Given the description of an element on the screen output the (x, y) to click on. 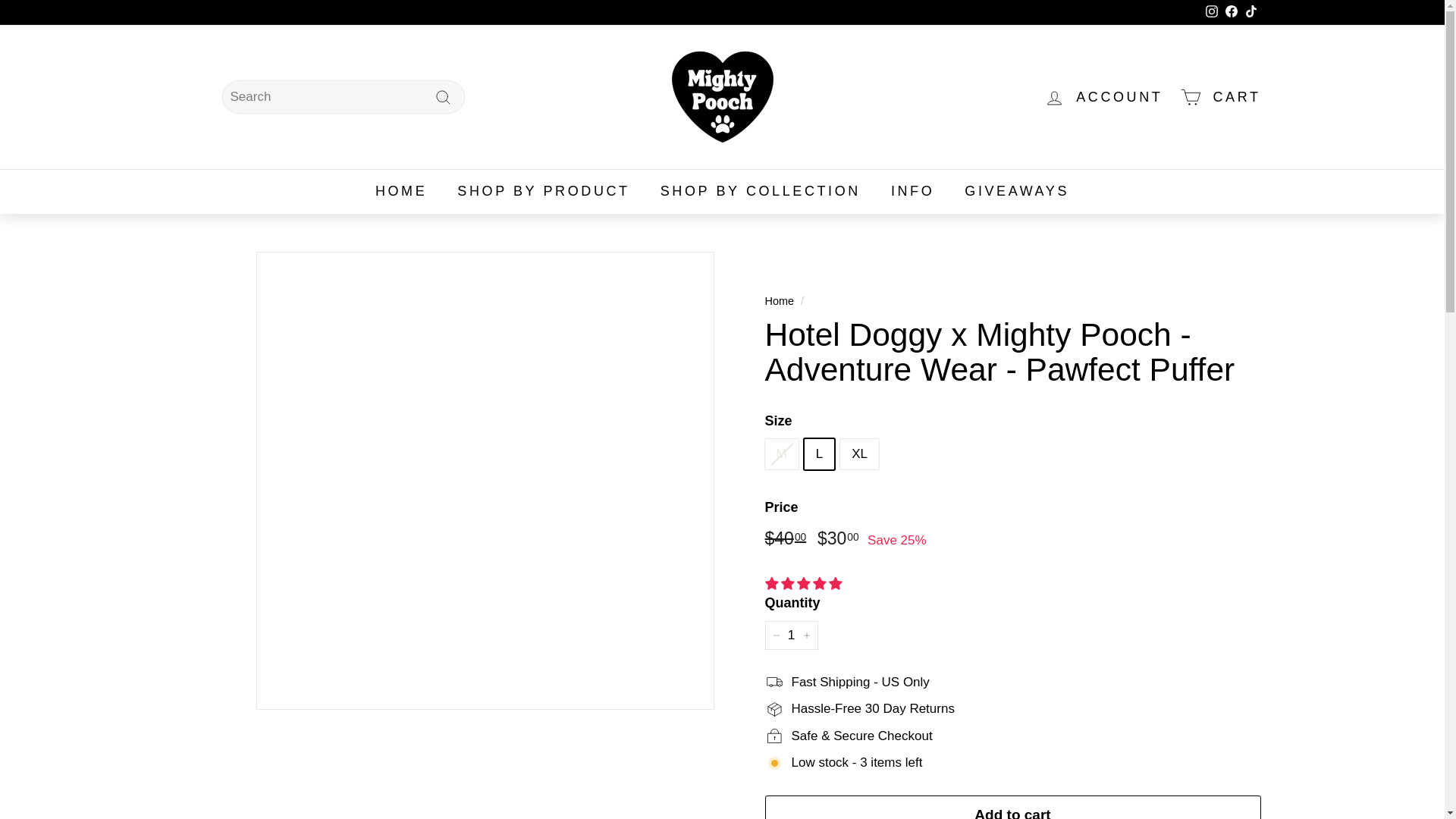
HOME (400, 190)
ACCOUNT (1103, 96)
Back to the frontpage (778, 300)
SHOP BY COLLECTION (760, 190)
1 (790, 635)
